Given the description of an element on the screen output the (x, y) to click on. 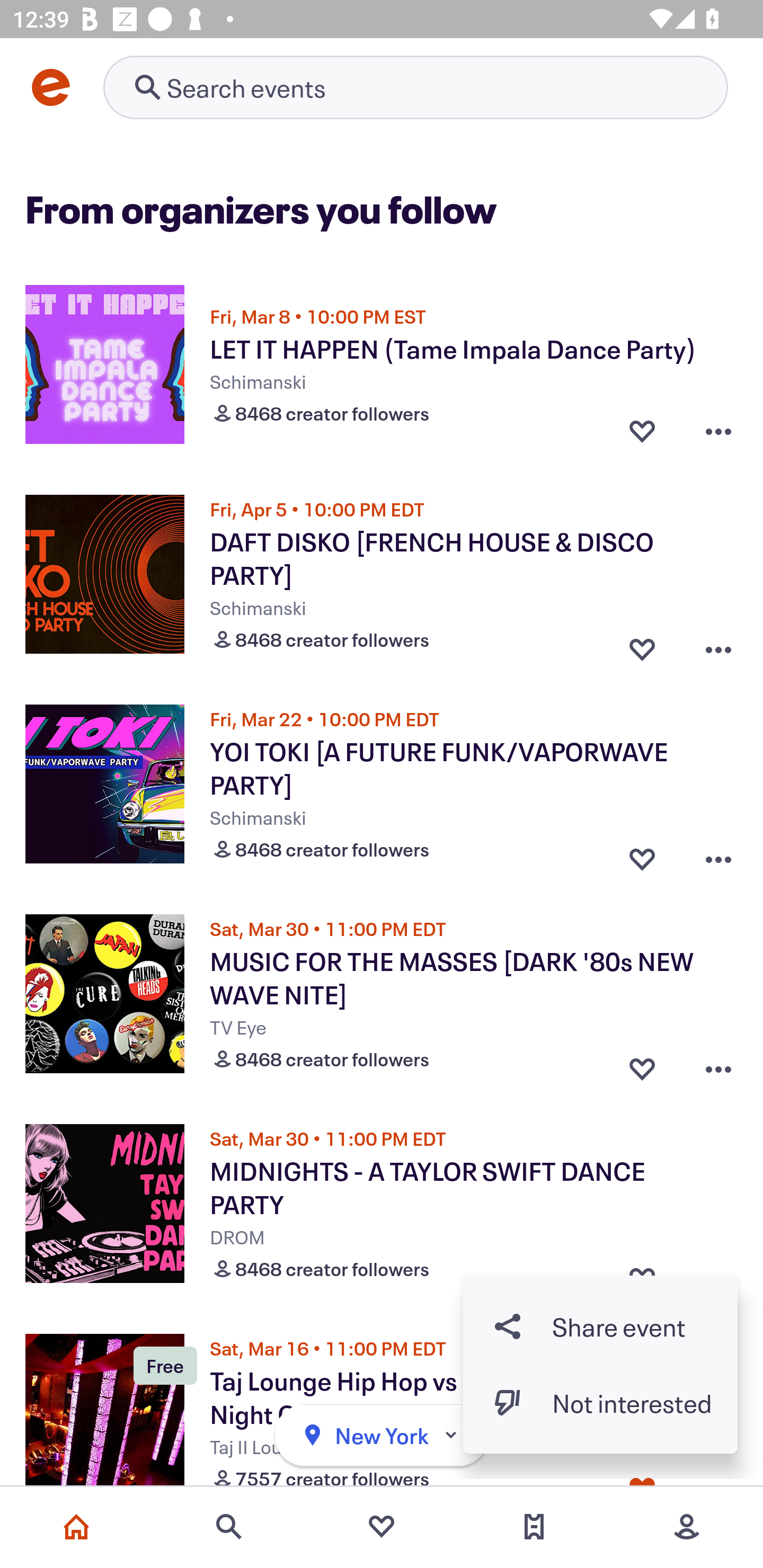
Share button Share event (600, 1326)
Dislike event button Not interested (600, 1402)
